Given the description of an element on the screen output the (x, y) to click on. 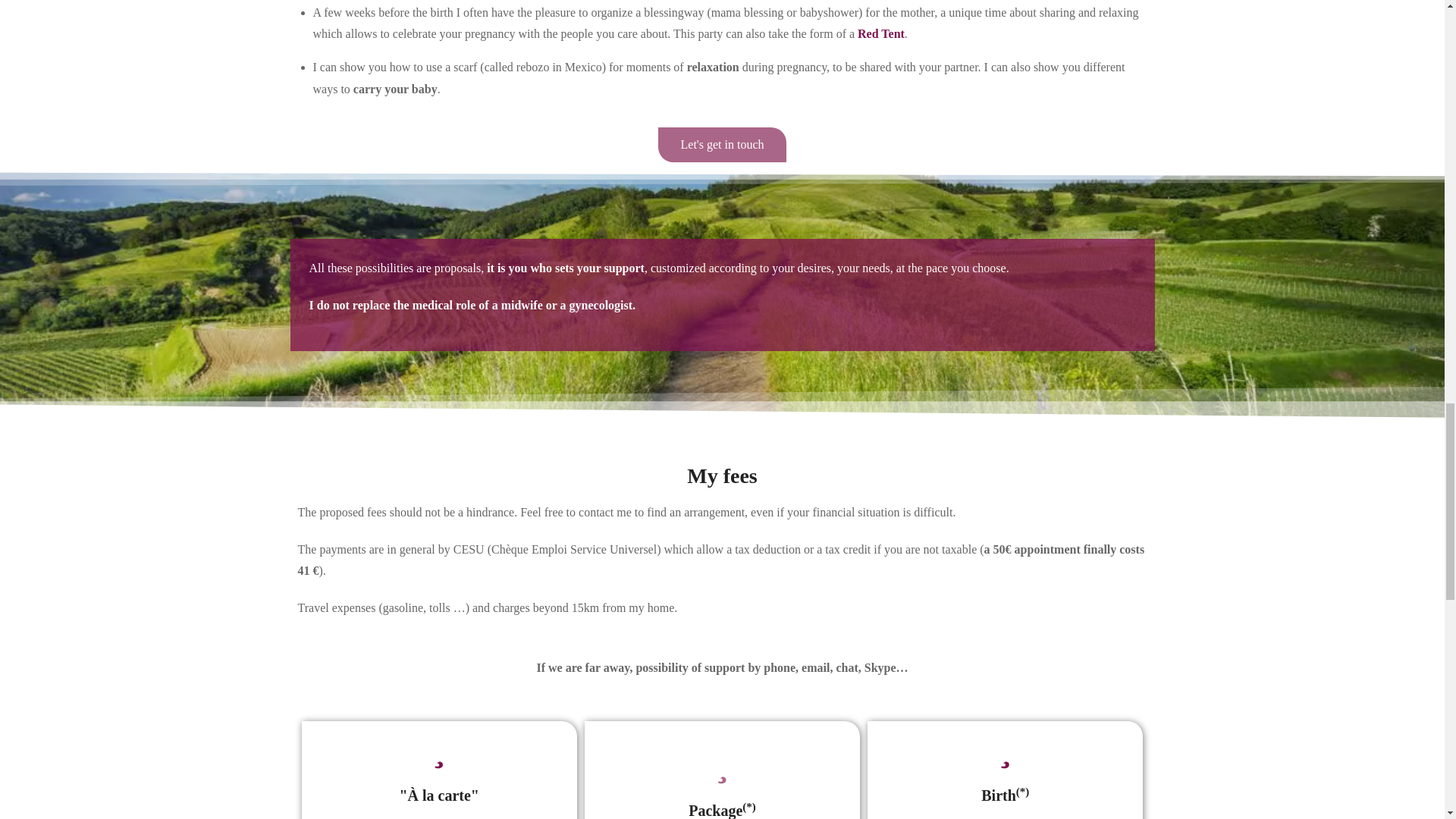
Red Tent (880, 33)
Let's get in touch (722, 144)
Tentes rouges (880, 33)
